Given the description of an element on the screen output the (x, y) to click on. 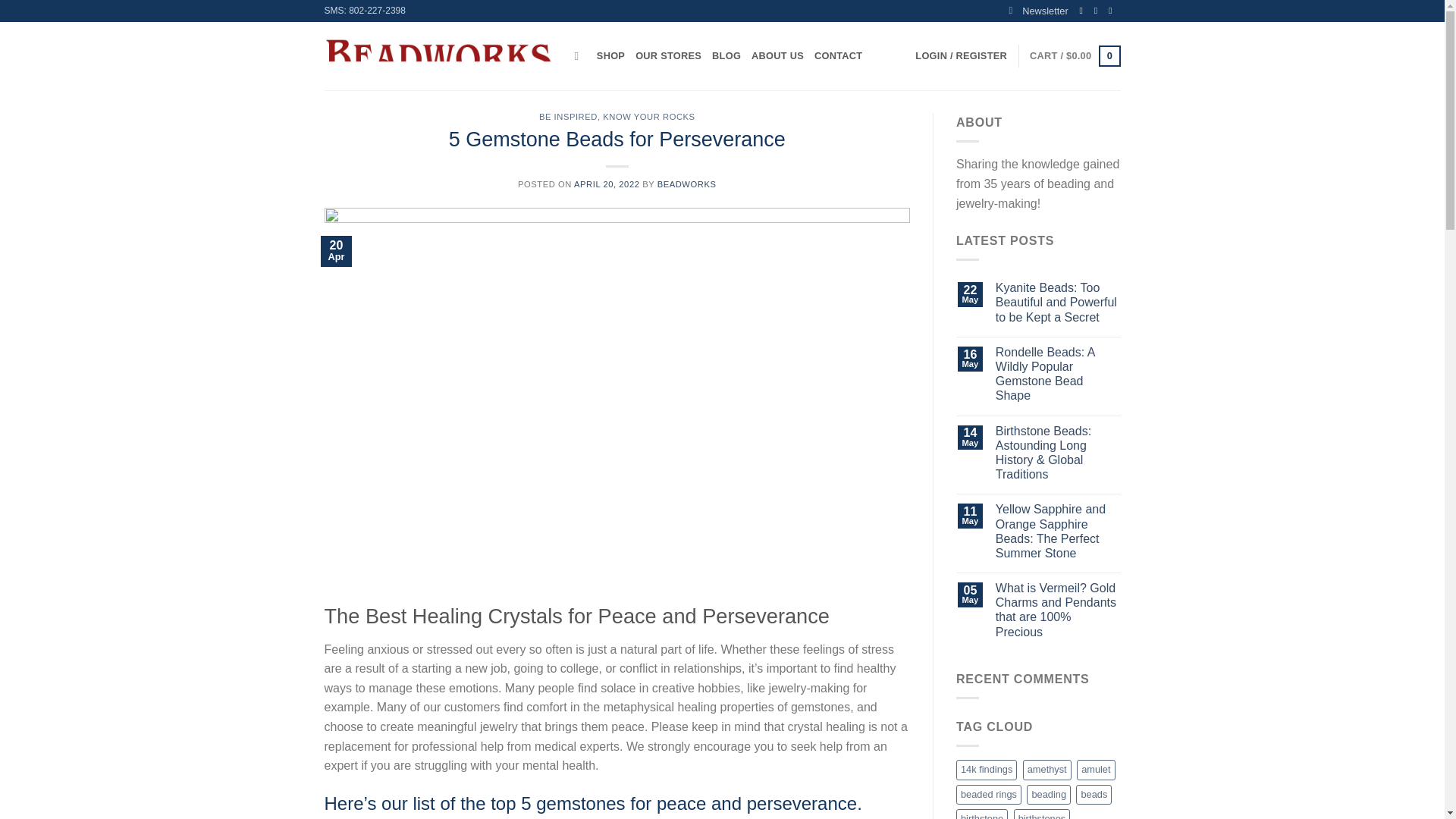
CONTACT (837, 55)
Newsletter (1038, 10)
KNOW YOUR ROCKS (648, 116)
SMS: 802-227-2398 (365, 11)
BEADWORKS (687, 184)
BE INSPIRED (567, 116)
APRIL 20, 2022 (606, 184)
OUR STORES (667, 55)
Beadworks - The finest in beads and gemstones (437, 56)
SHOP (610, 55)
